Given the description of an element on the screen output the (x, y) to click on. 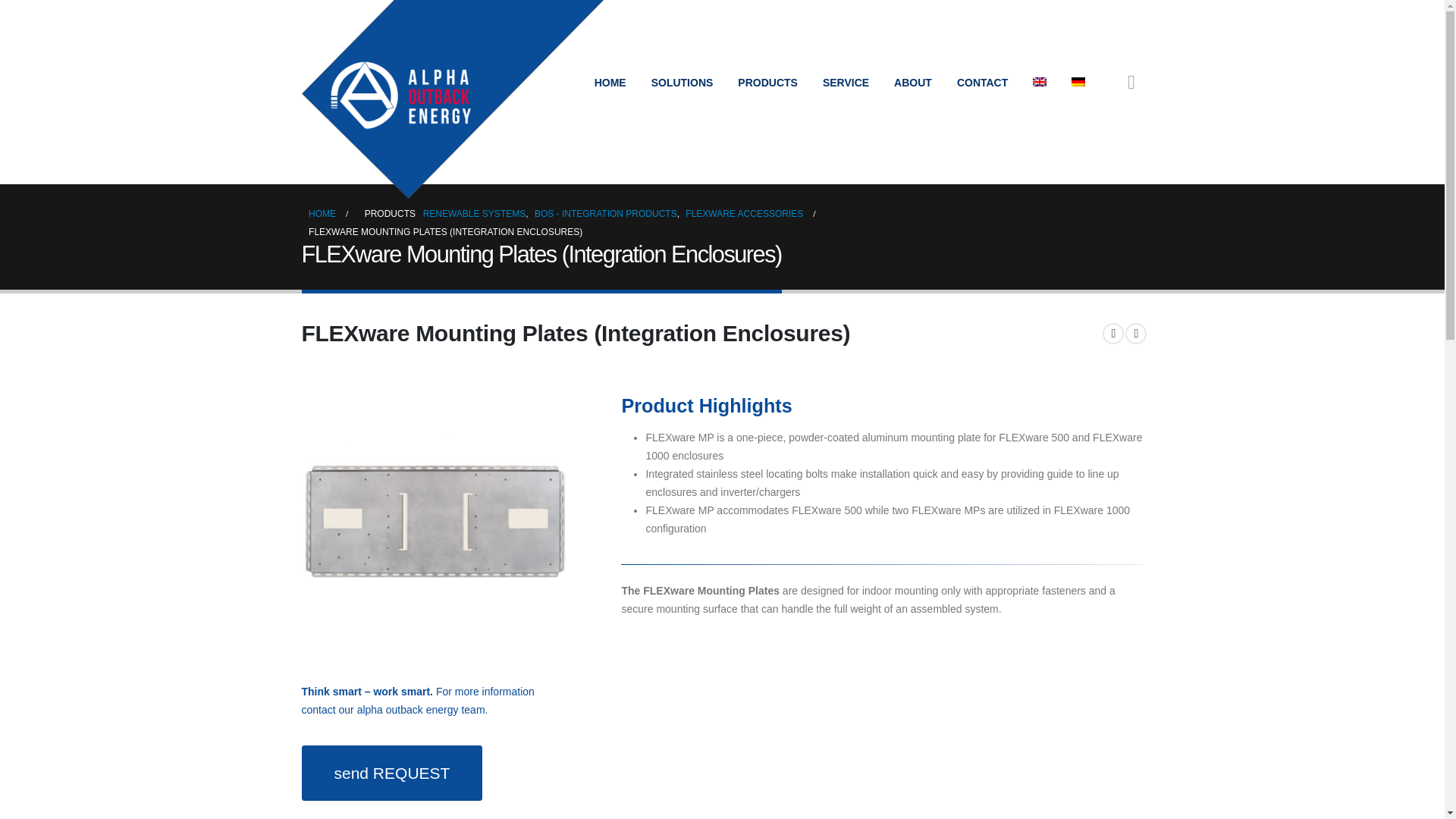
SOLUTIONS (682, 82)
PRODUCTS (767, 82)
Alpha and Outback Energy - USV, DC, Cabel-TV and Outdoor (453, 99)
HOME (610, 82)
Go to Home Page (322, 213)
Renewable Request (392, 772)
